Given the description of an element on the screen output the (x, y) to click on. 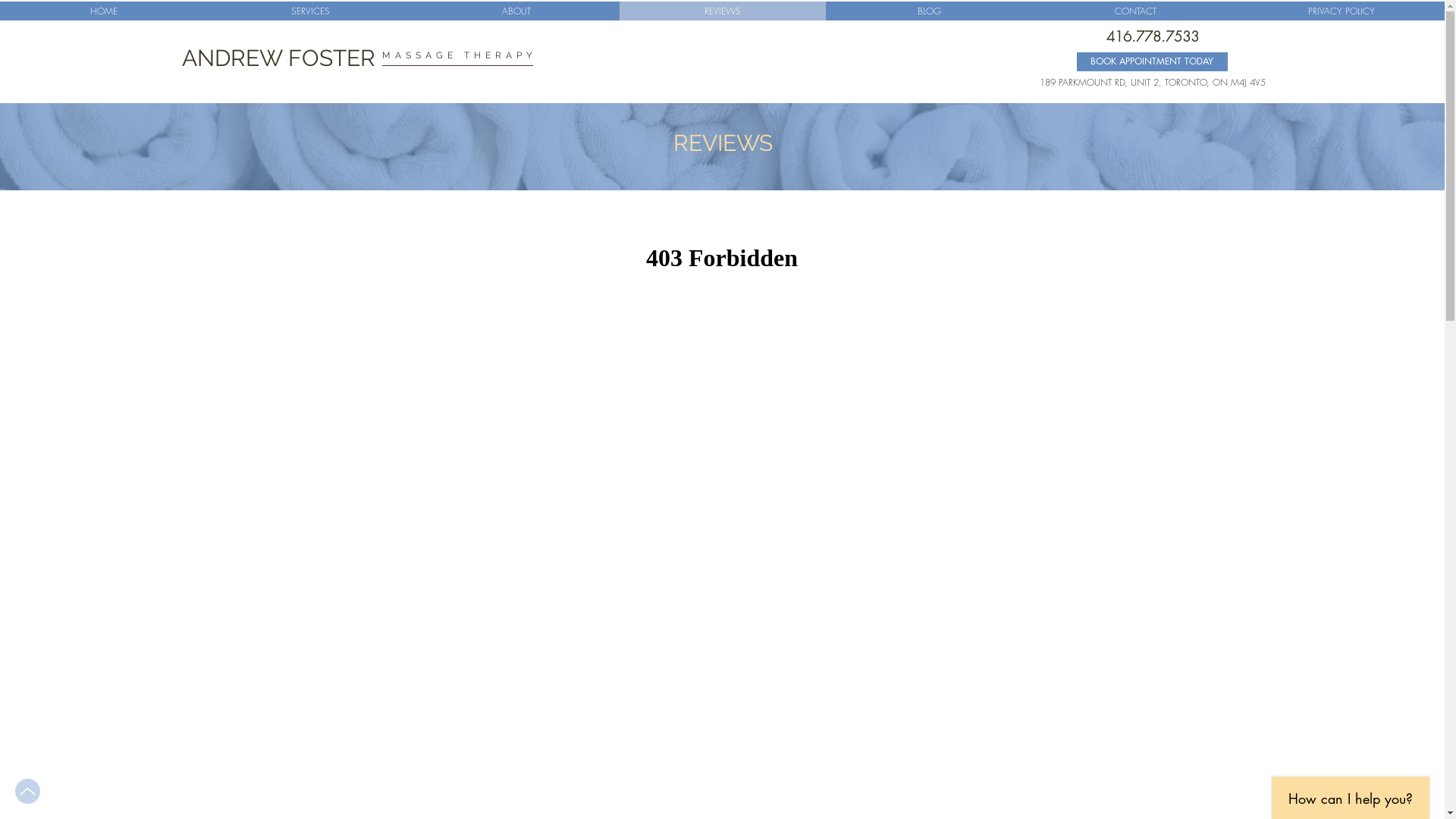
ANDREW FOSTER Element type: text (278, 57)
189 PARKMOUNT RD, UNIT 2, TORONTO Element type: text (1122, 81)
ABOUT Element type: text (516, 10)
CONTACT Element type: text (1135, 10)
, ON M4J 4V5 Element type: text (1235, 81)
REVIEWS Element type: text (722, 10)
PRIVACY POLICY Element type: text (1341, 10)
416.778.7533 Element type: text (1152, 36)
HOME Element type: text (103, 10)
BOOK APPOINTMENT TODAY Element type: text (1151, 61)
MASSAGE THERAPY Element type: text (459, 54)
BLOG Element type: text (928, 10)
